Given the description of an element on the screen output the (x, y) to click on. 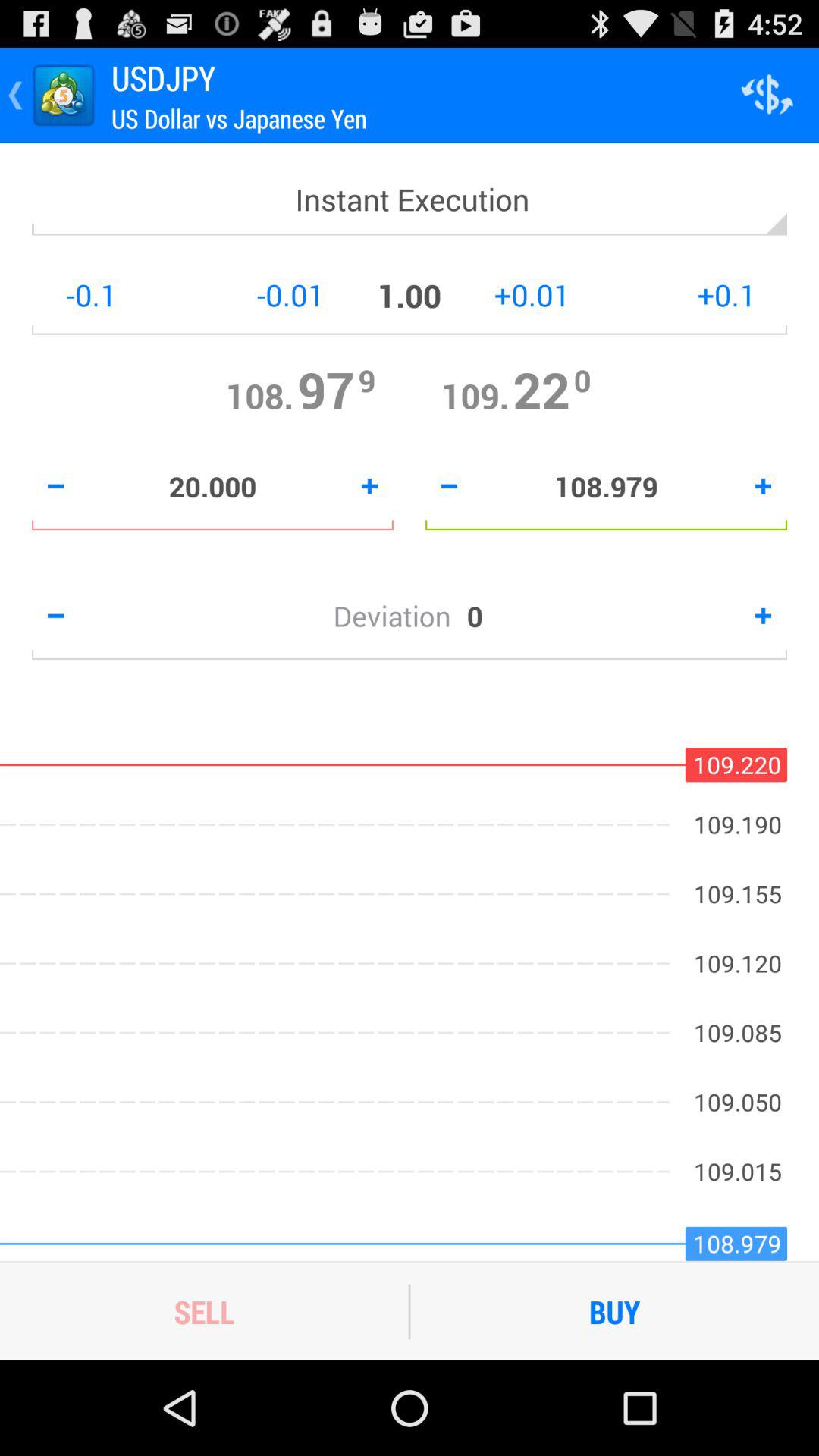
press sell item (204, 1311)
